Given the description of an element on the screen output the (x, y) to click on. 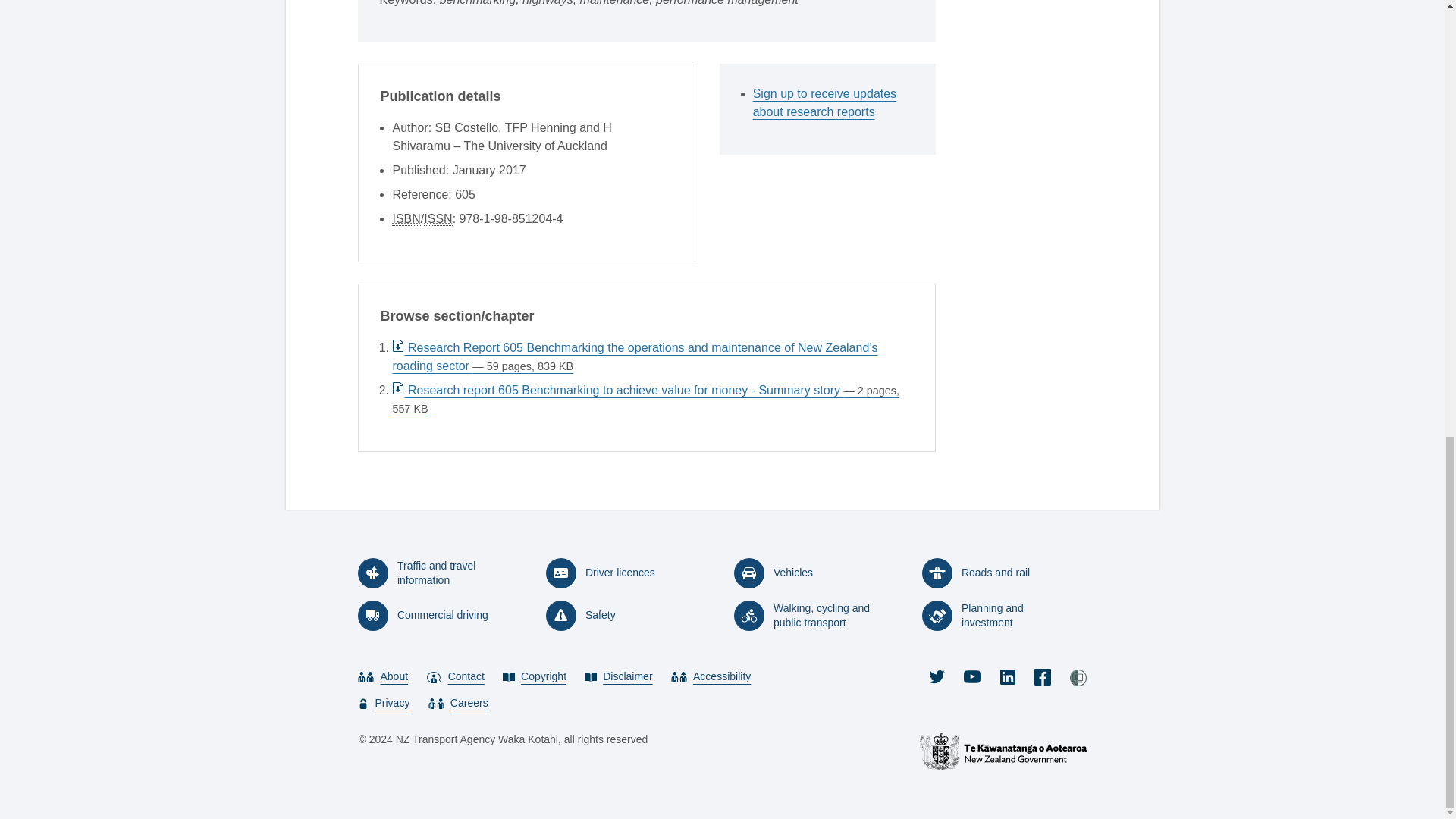
International Standard Serial Number (437, 219)
International Standard Book Number (405, 219)
Sign up to receive updates about research reports (833, 103)
